Given the description of an element on the screen output the (x, y) to click on. 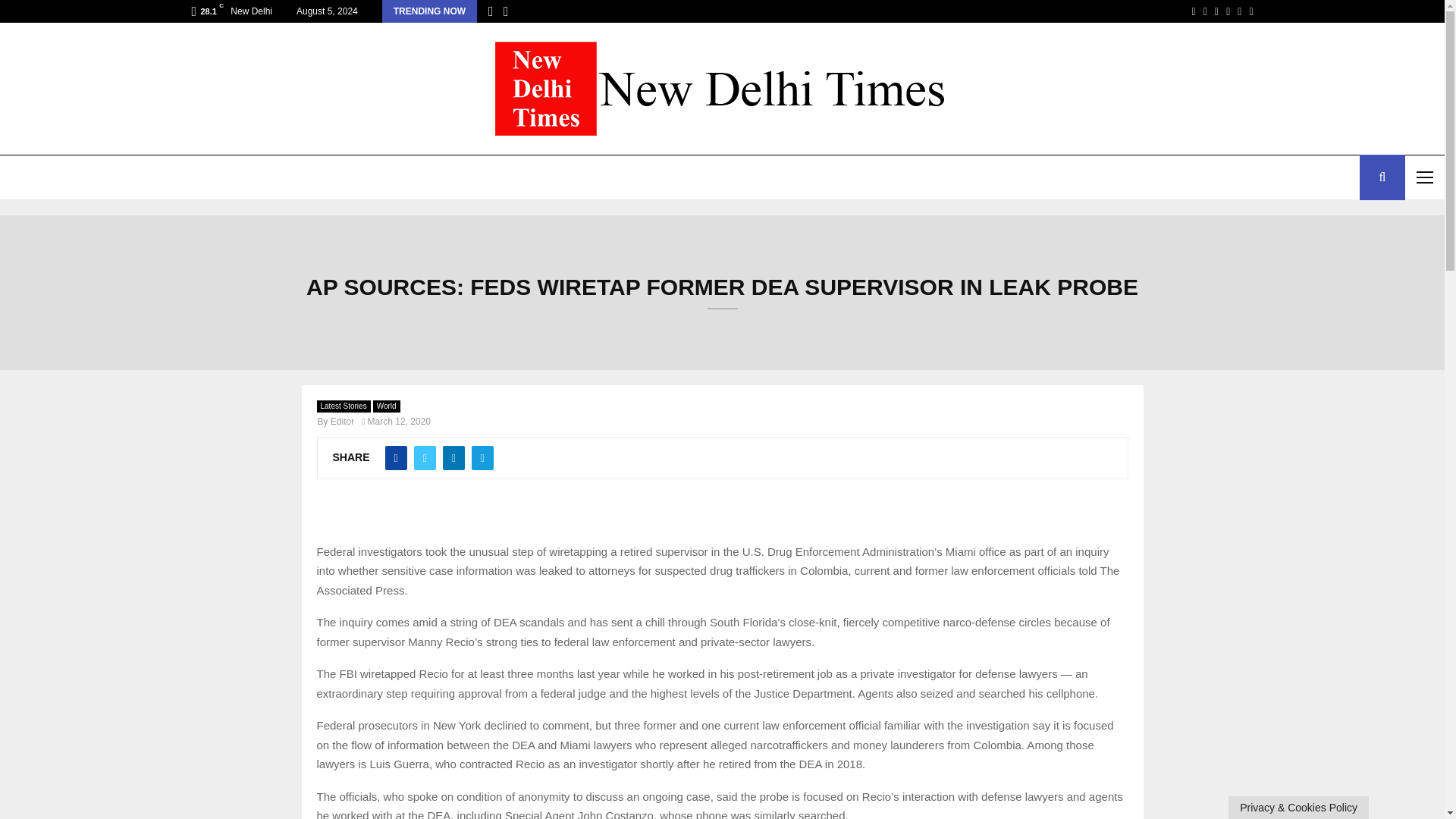
LATEST STORIES (56, 176)
SPORTS (283, 176)
WORLD (148, 176)
